Given the description of an element on the screen output the (x, y) to click on. 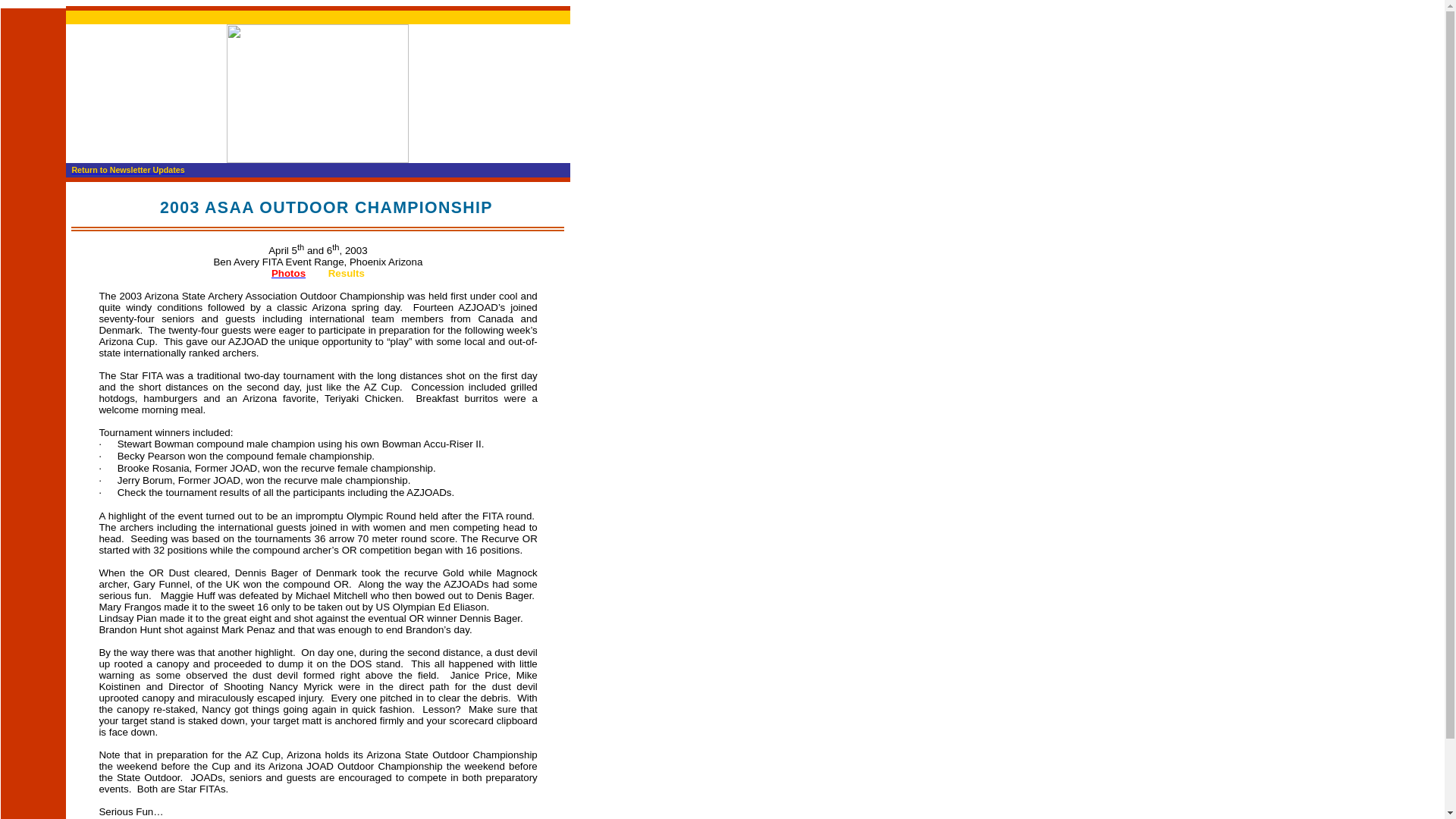
Return to Newsletter Updates (127, 169)
Photos (287, 273)
